Given the description of an element on the screen output the (x, y) to click on. 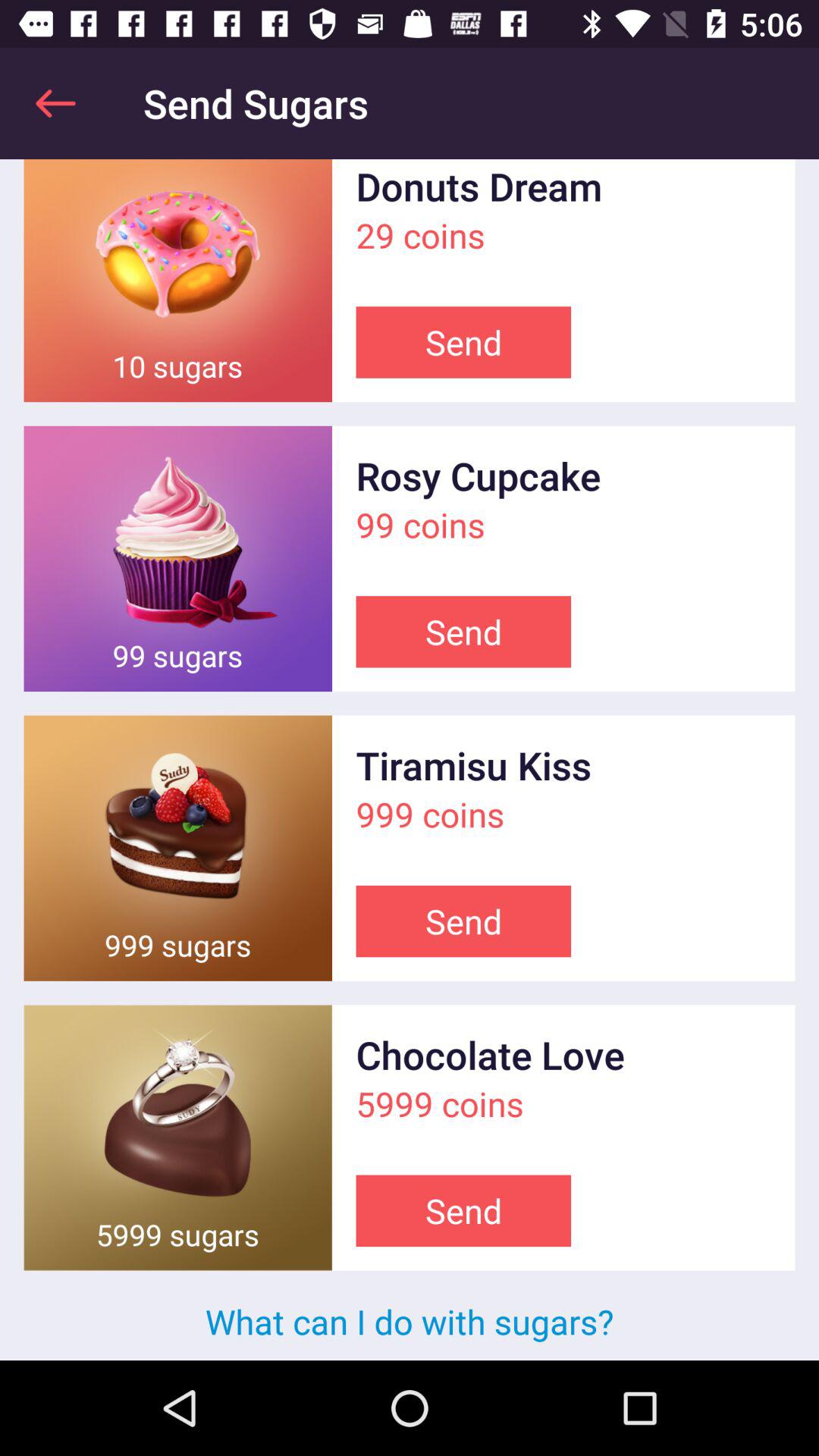
click app next to send sugars (55, 103)
